Given the description of an element on the screen output the (x, y) to click on. 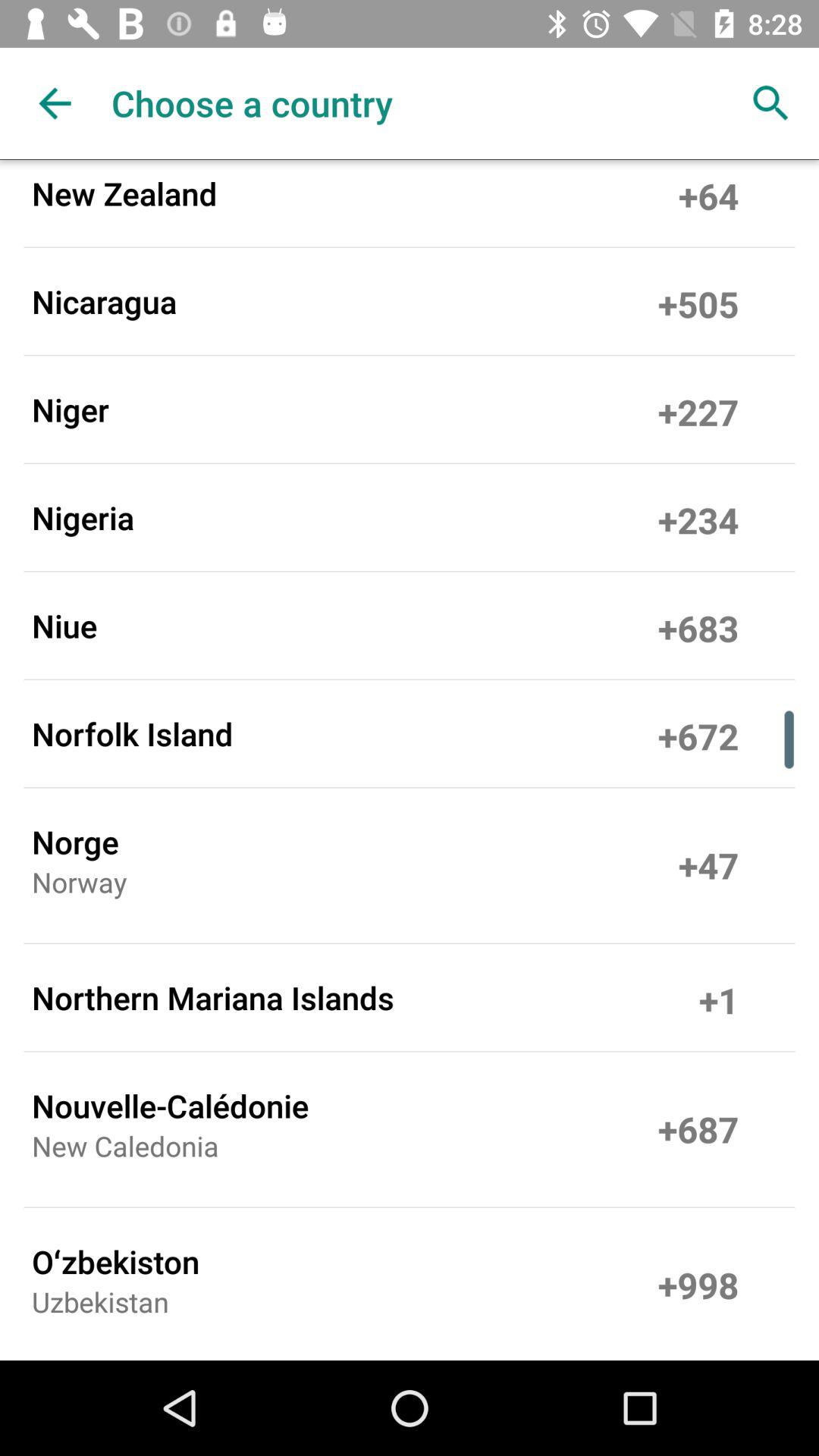
choose icon next to the +687 item (124, 1151)
